Given the description of an element on the screen output the (x, y) to click on. 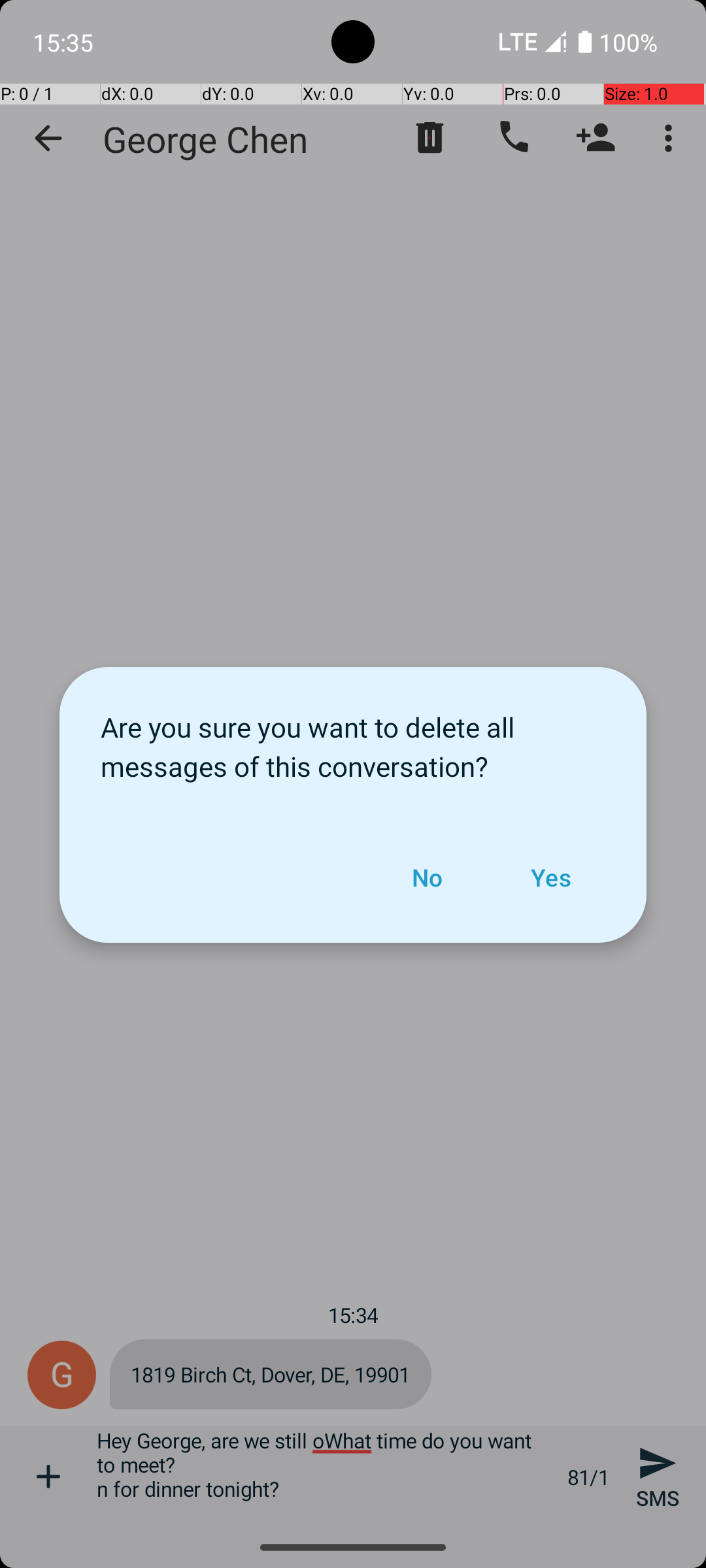
Are you sure you want to delete all messages of this conversation? Element type: android.widget.TextView (352, 739)
